Given the description of an element on the screen output the (x, y) to click on. 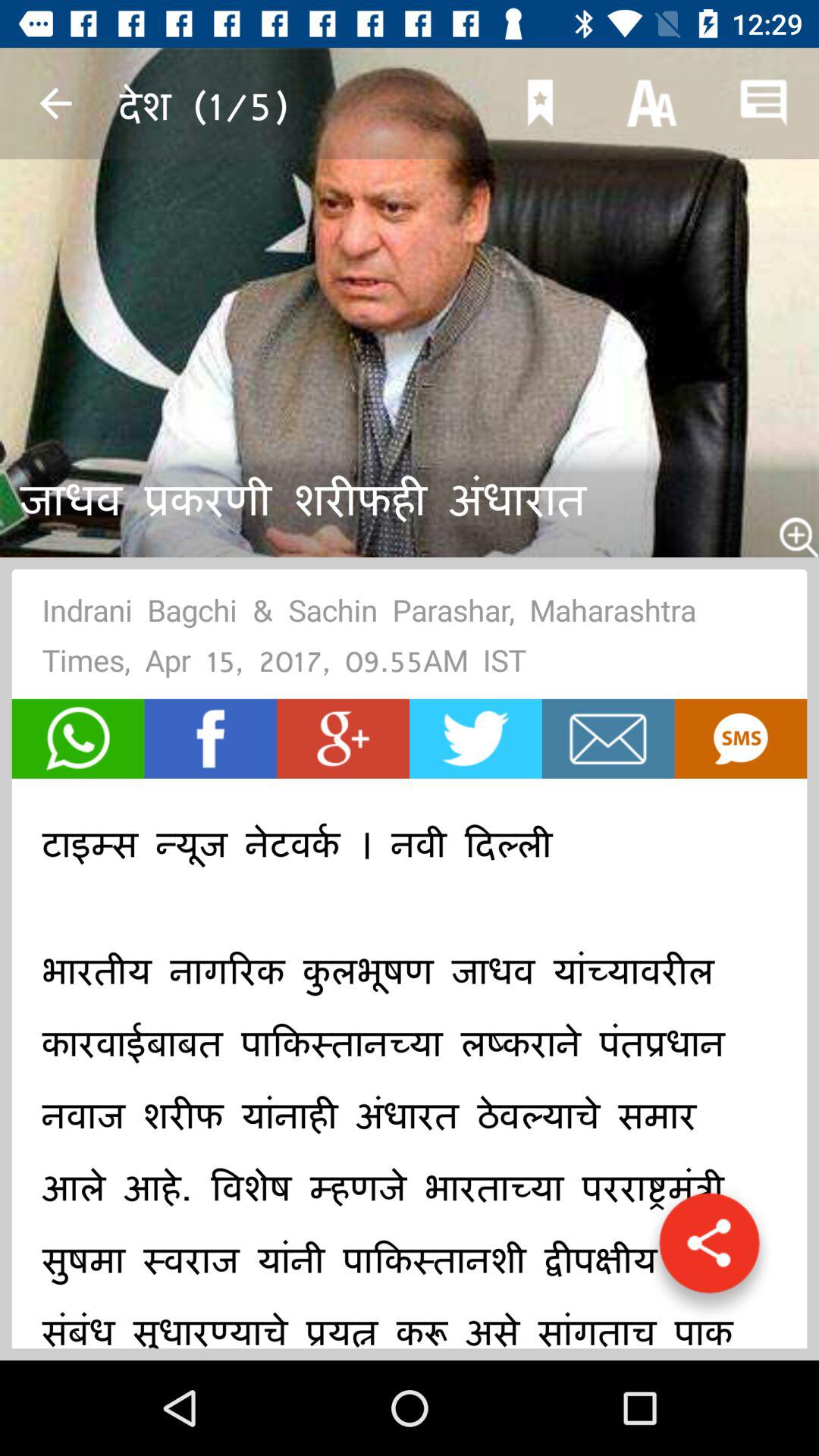
make a phone call (77, 738)
